Given the description of an element on the screen output the (x, y) to click on. 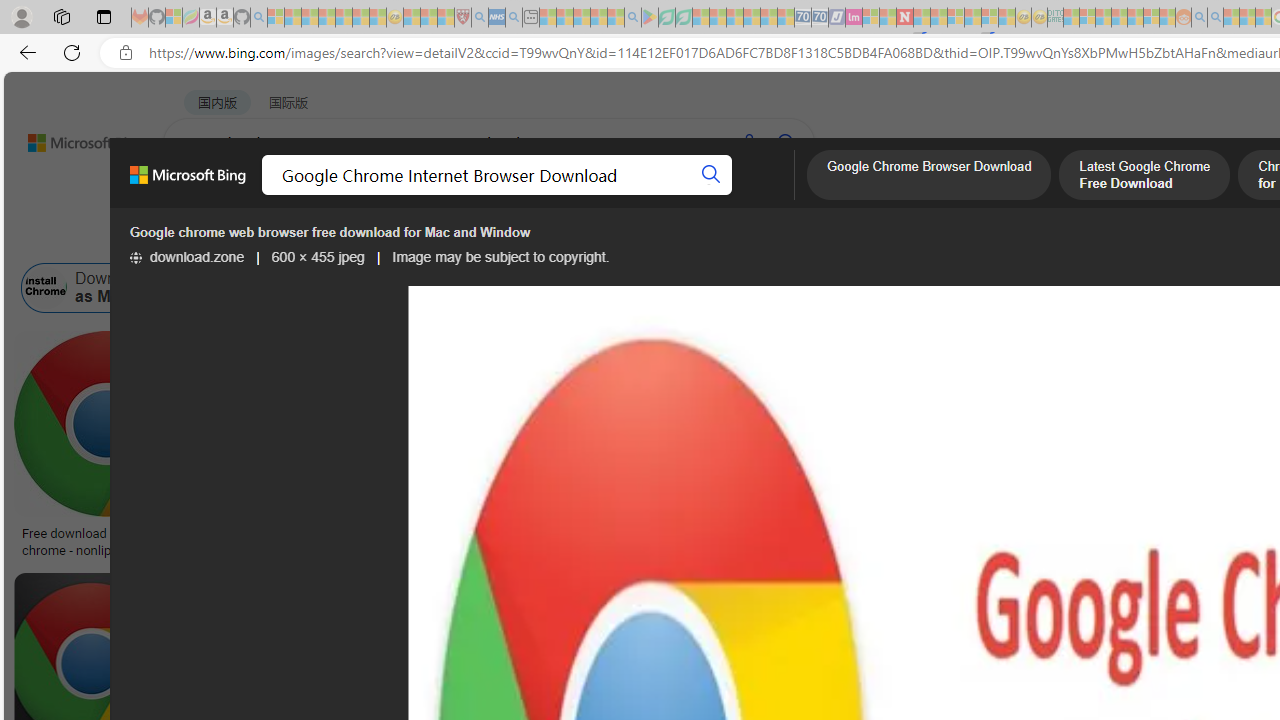
Microsoft Bing, Back to Bing search (188, 183)
Google Chrome Browser Download (929, 177)
Image may be subject to copyright. (500, 257)
Layout (443, 237)
Class: item col (1143, 287)
Search button (712, 174)
Download video online chrome - hresadishSave (335, 448)
Date (591, 237)
Color (305, 237)
Google Chrome Website Download (317, 287)
